Given the description of an element on the screen output the (x, y) to click on. 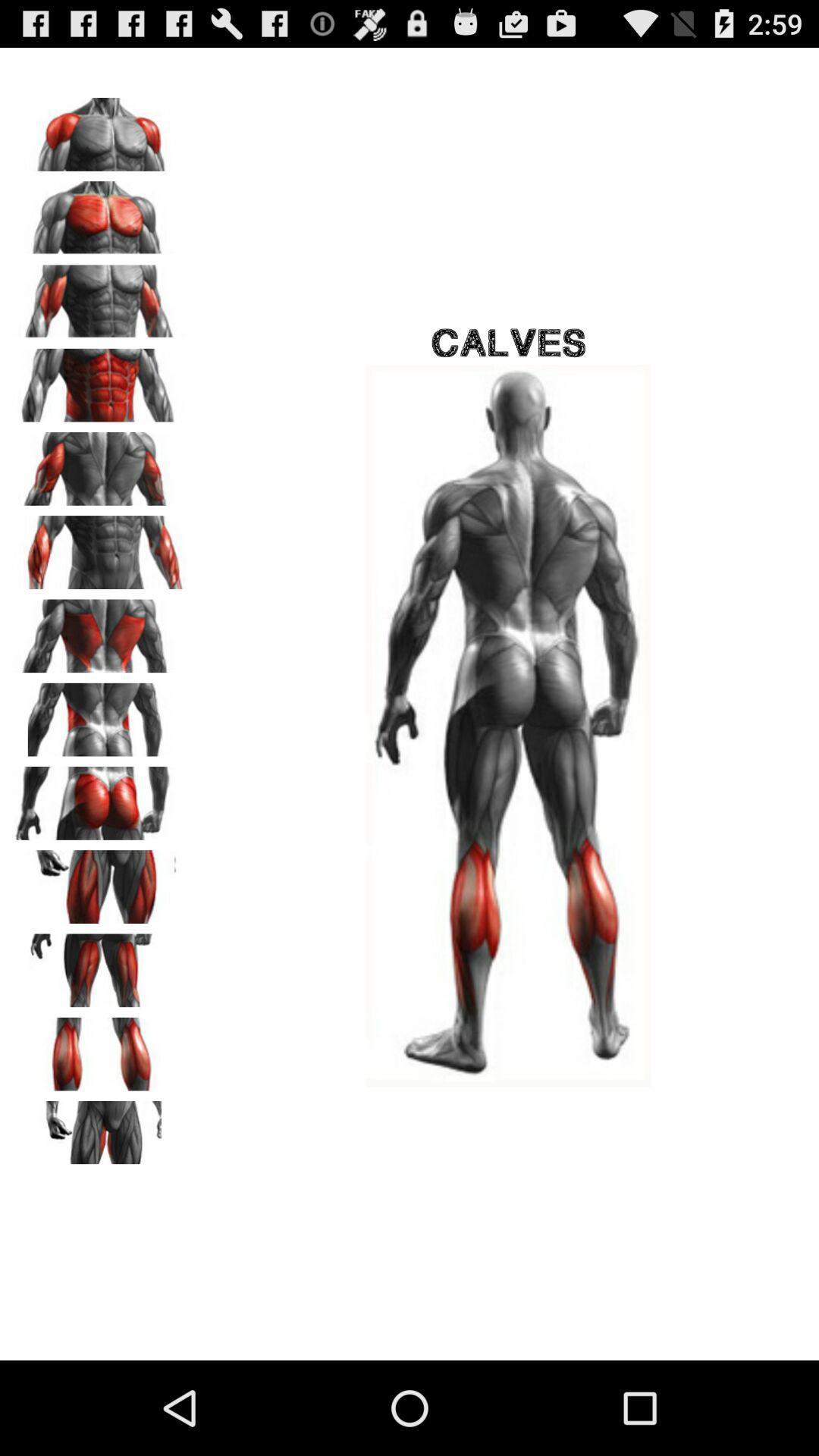
isolate muscle area (99, 463)
